Given the description of an element on the screen output the (x, y) to click on. 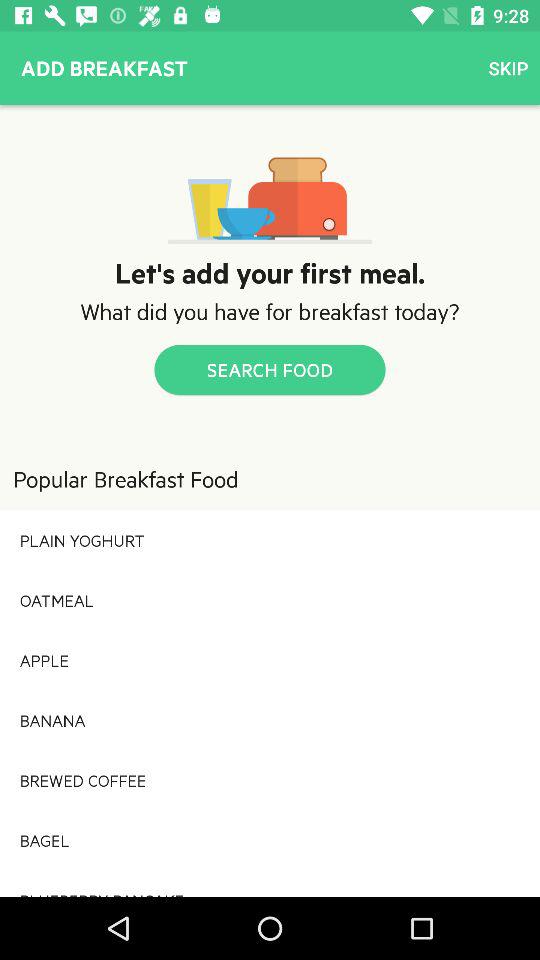
choose the item below the what did you icon (269, 369)
